Given the description of an element on the screen output the (x, y) to click on. 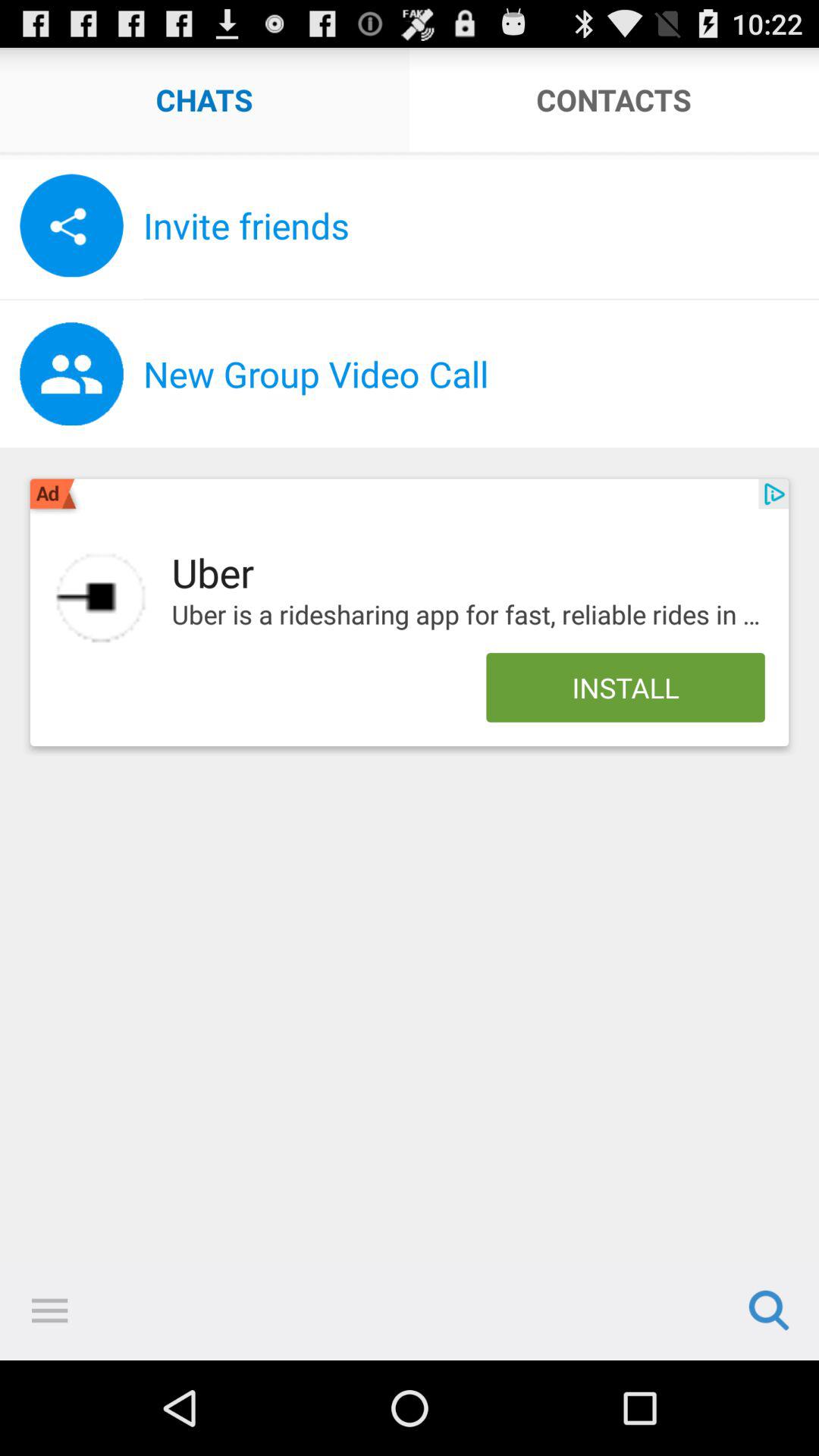
jump until the invite friends icon (481, 225)
